Given the description of an element on the screen output the (x, y) to click on. 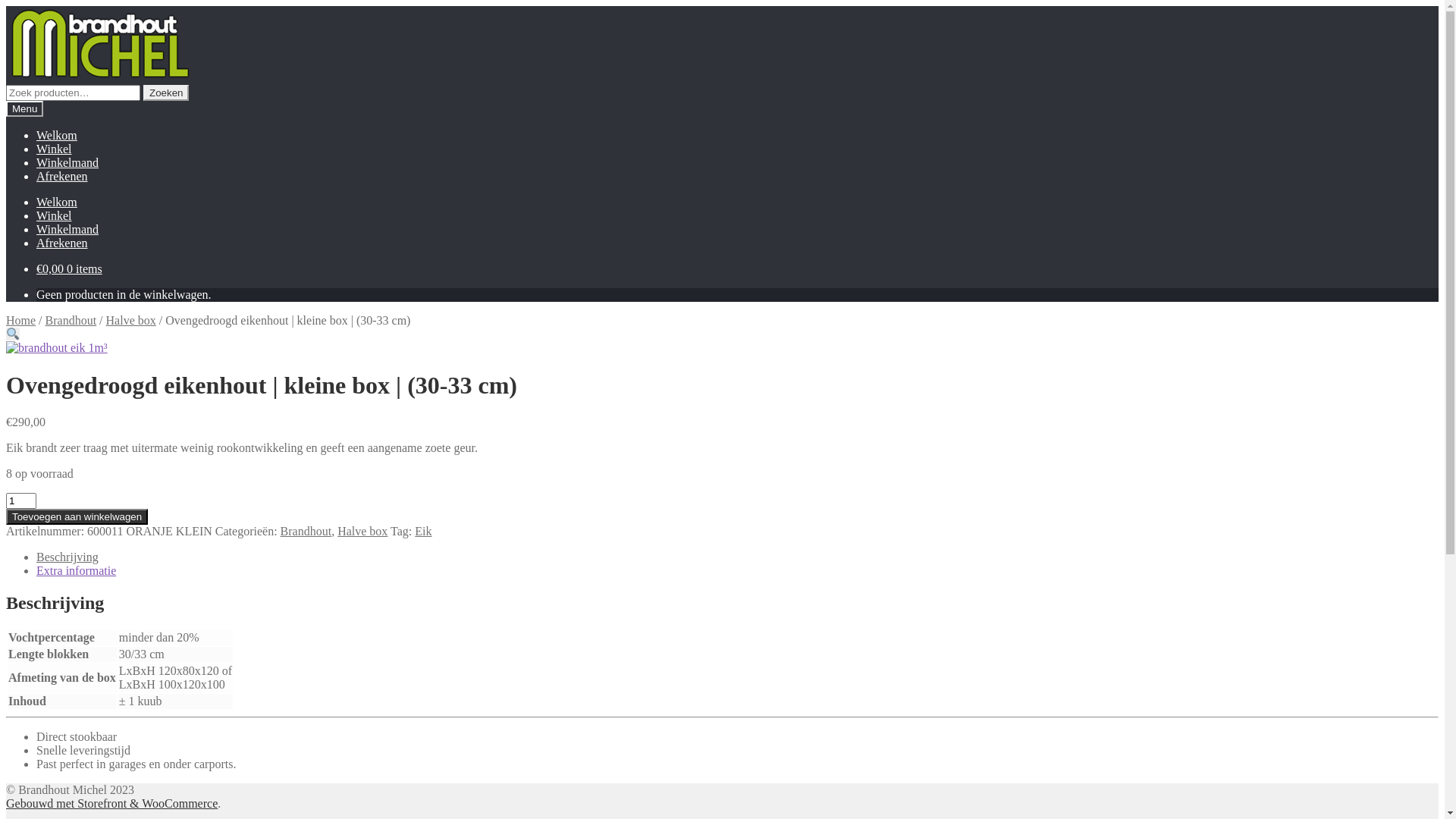
Afrekenen Element type: text (61, 175)
Gebouwd met Storefront & WooCommerce Element type: text (111, 803)
Brandhout Element type: text (71, 319)
Welkom Element type: text (56, 201)
Brandhout Element type: text (306, 530)
Halve box Element type: text (131, 319)
Ga door naar navigatie Element type: text (5, 5)
Welkom Element type: text (56, 134)
Toevoegen aan winkelwagen Element type: text (76, 516)
Winkel Element type: text (53, 148)
Menu Element type: text (24, 108)
Winkelmand Element type: text (67, 228)
Eik Element type: text (422, 530)
Beschrijving Element type: text (67, 556)
Halve box Element type: text (362, 530)
Home Element type: text (20, 319)
Extra informatie Element type: text (76, 570)
Zoeken Element type: text (165, 92)
Winkelmand Element type: text (67, 162)
Winkel Element type: text (53, 215)
Afrekenen Element type: text (61, 242)
